Given the description of an element on the screen output the (x, y) to click on. 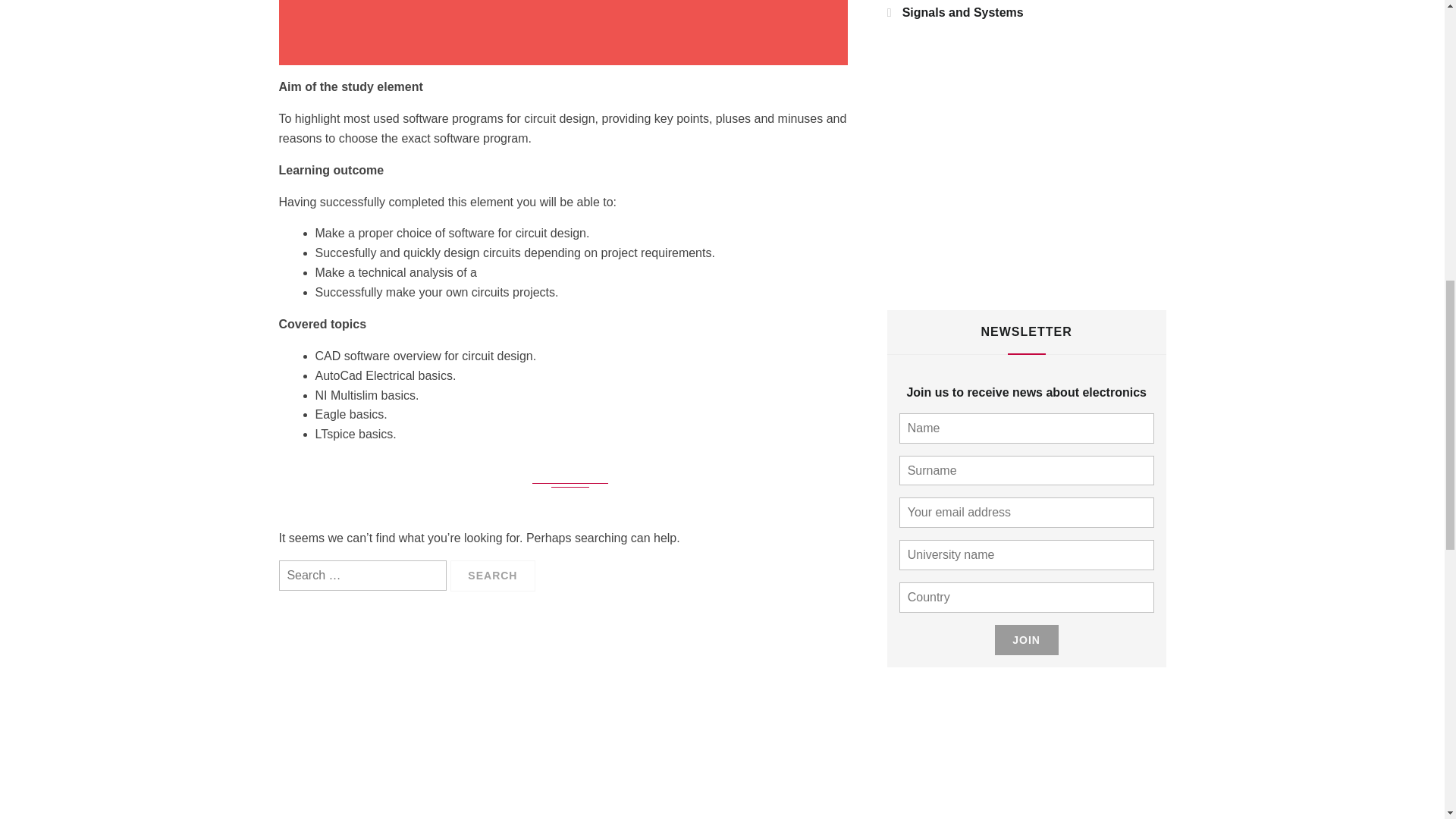
Search (492, 575)
Join (1026, 640)
Search (492, 575)
3rd party ad content (1000, 169)
